Given the description of an element on the screen output the (x, y) to click on. 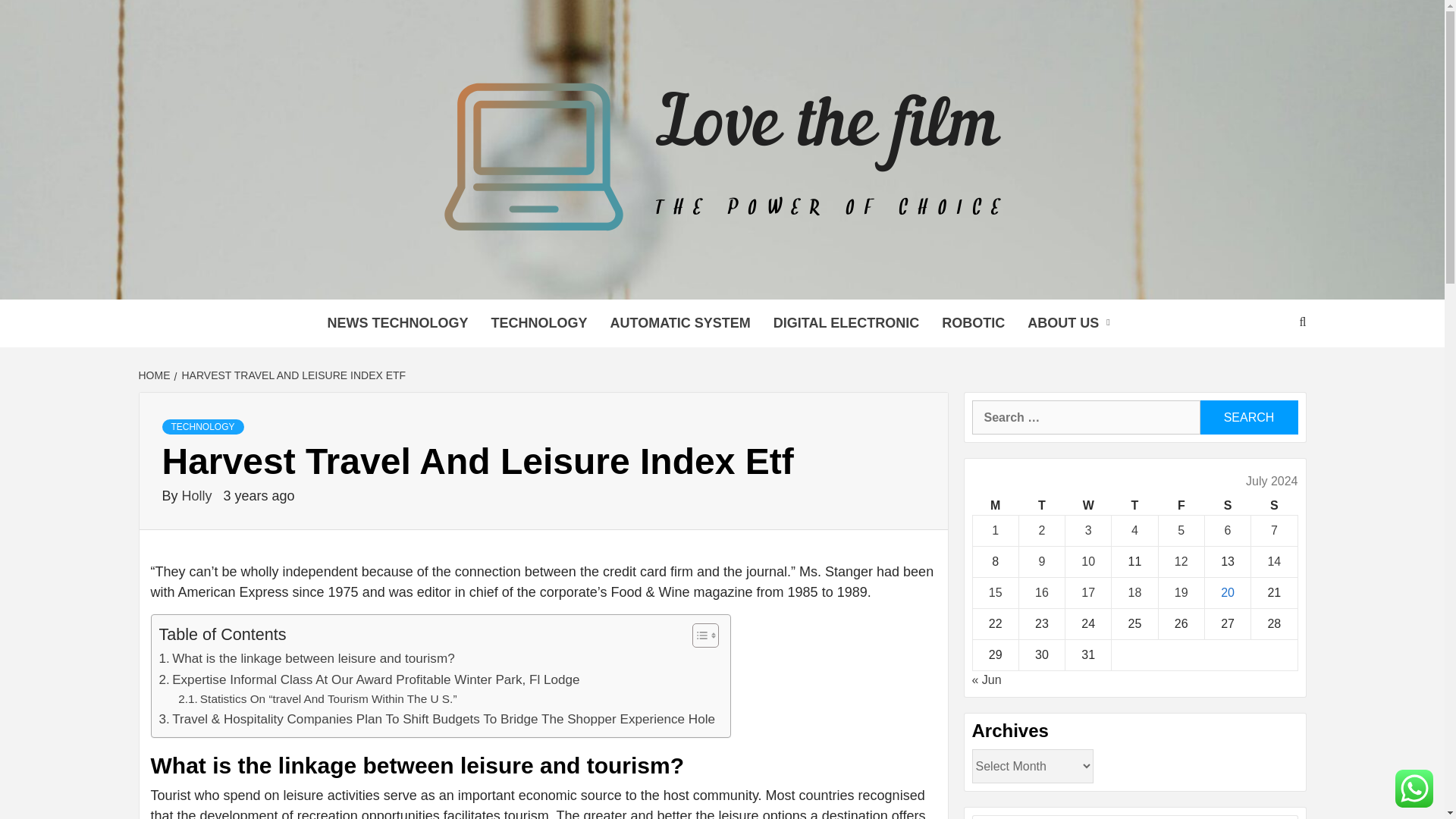
TECHNOLOGY (202, 426)
Saturday (1227, 505)
Sunday (1273, 505)
Search (1248, 417)
ROBOTIC (973, 323)
Tuesday (1040, 505)
HOME (155, 375)
DIGITAL ELECTRONIC (845, 323)
Wednesday (1088, 505)
LOVE THE FILM (430, 280)
What is the linkage between leisure and tourism? (306, 658)
TECHNOLOGY (538, 323)
Thursday (1134, 505)
HARVEST TRAVEL AND LEISURE INDEX ETF (292, 375)
